Given the description of an element on the screen output the (x, y) to click on. 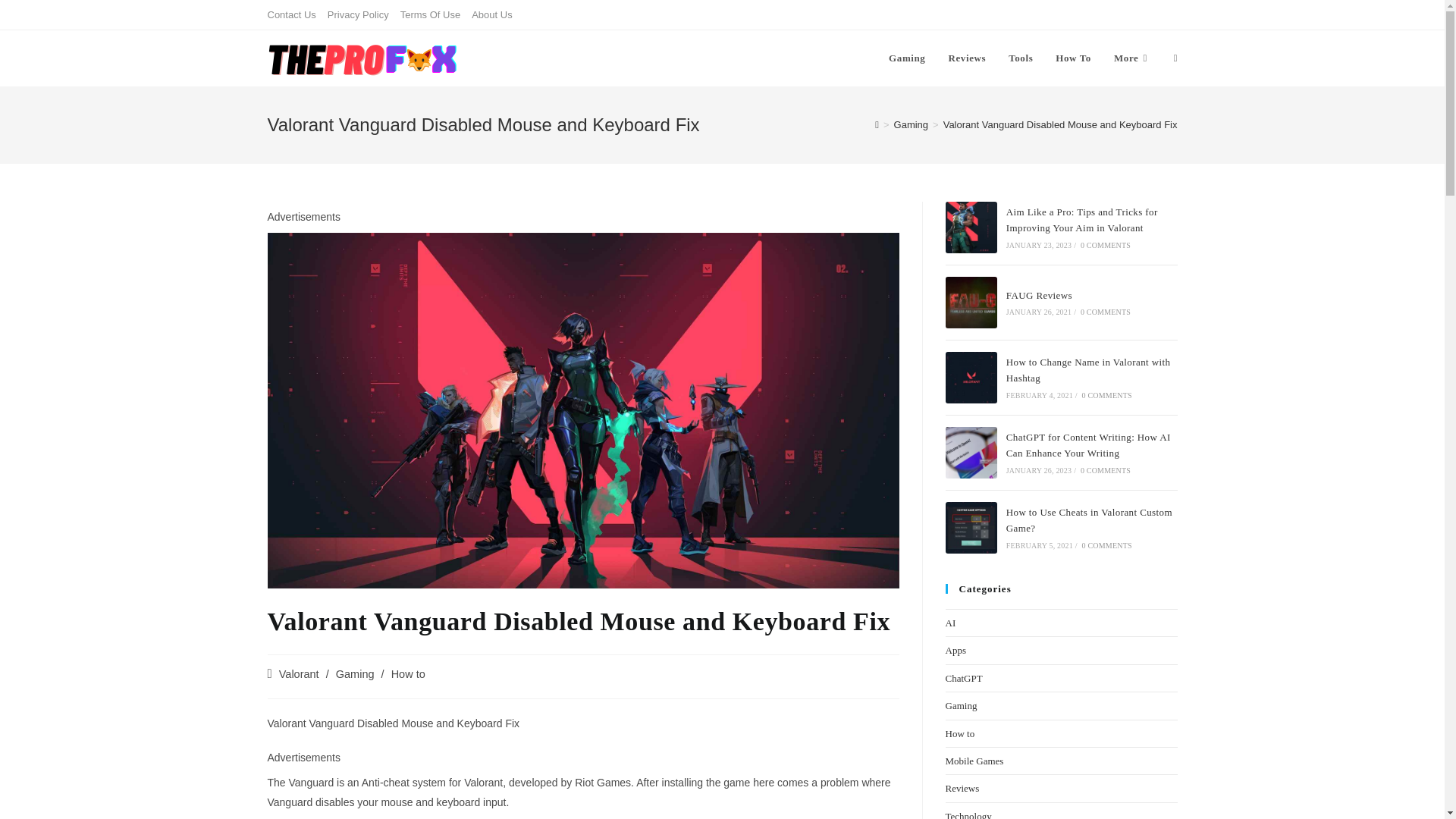
How to Change Name in Valorant with Hashtag (969, 377)
Privacy Policy (357, 14)
How to (408, 674)
FAUG Reviews (969, 302)
Gaming (910, 124)
More (1131, 58)
Contact Us (290, 14)
Reviews (966, 58)
Valorant Vanguard Disabled Mouse and Keyboard Fix (1060, 124)
